Given the description of an element on the screen output the (x, y) to click on. 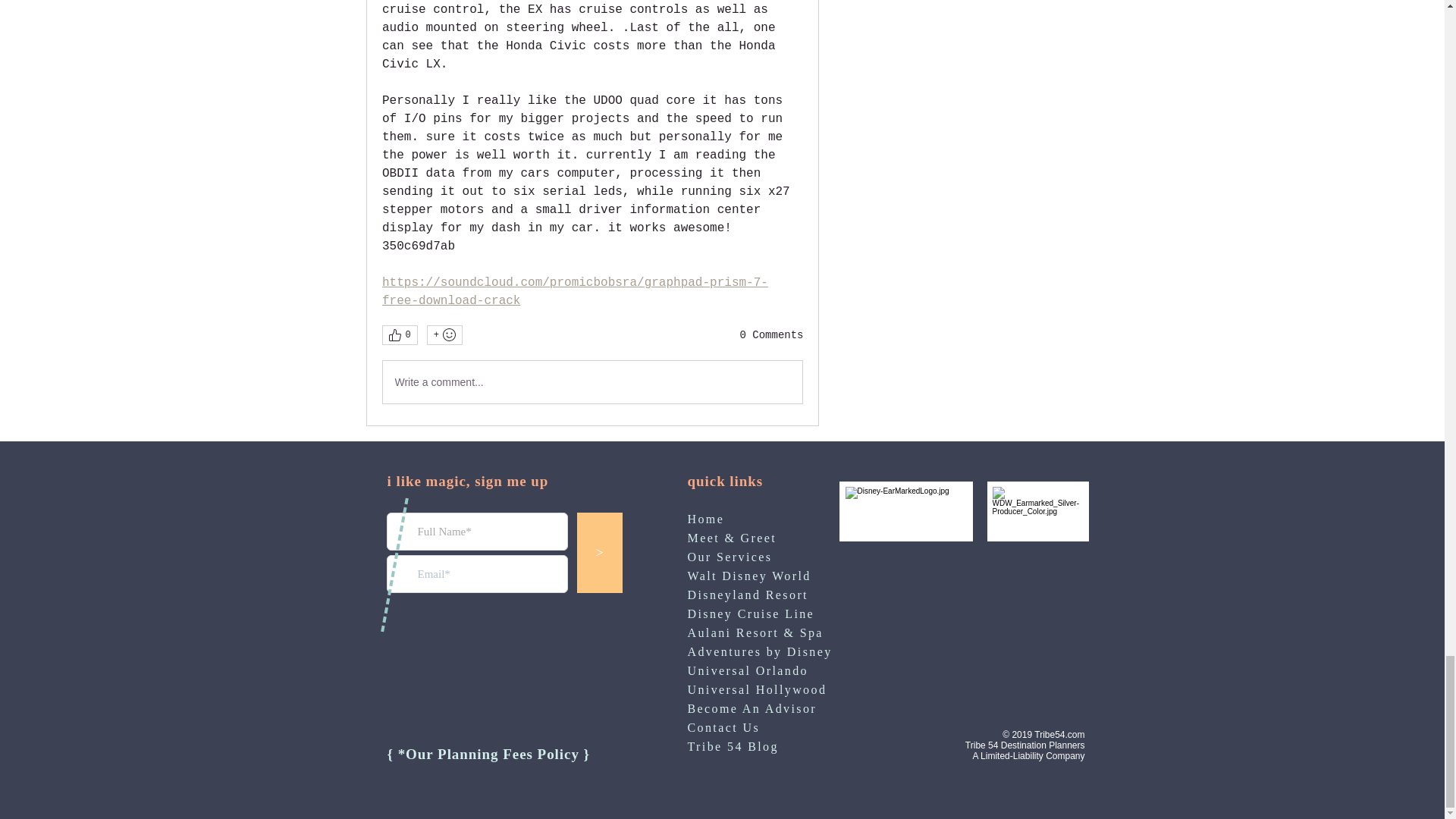
Adventures by Disney (759, 651)
Disney Cruise Line (750, 613)
Write a comment... (591, 382)
Disneyland Resort (747, 594)
Our Services (729, 558)
Walt Disney World (748, 575)
Contact Us (723, 727)
Universal Hollywood (757, 690)
Tribe 54 Blog (732, 747)
